Given the description of an element on the screen output the (x, y) to click on. 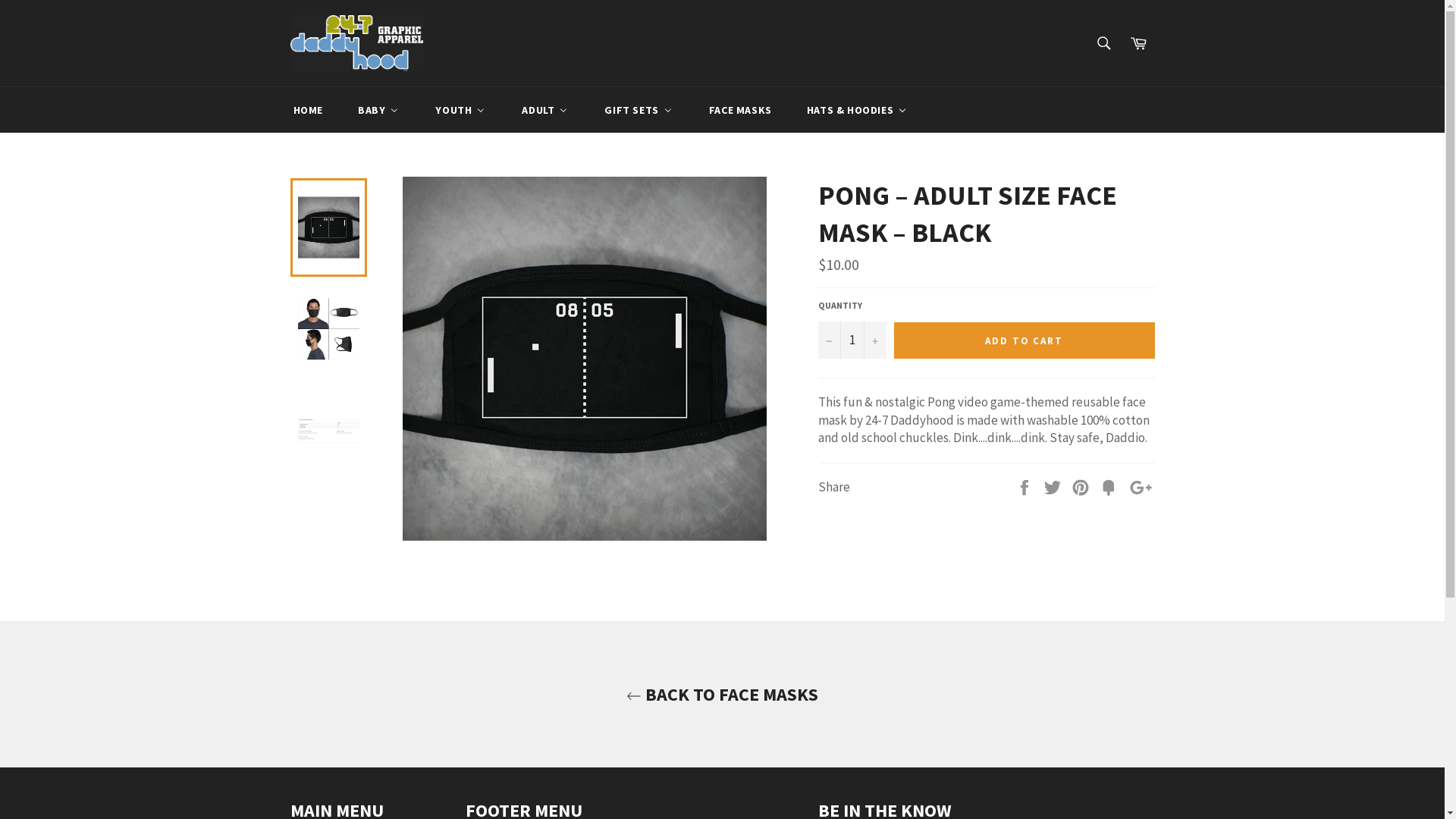
+ Element type: text (873, 339)
ADULT Element type: text (544, 109)
HOME Element type: text (306, 109)
+1 on Google Plus Element type: text (1140, 486)
YOUTH Element type: text (460, 109)
Add to Fancy Element type: text (1109, 486)
Search Element type: text (1104, 43)
Share on Facebook Element type: text (1025, 486)
Tweet on Twitter Element type: text (1053, 486)
GIFT SETS Element type: text (638, 109)
FACE MASKS Element type: text (739, 109)
BACK TO FACE MASKS Element type: text (722, 693)
Pin on Pinterest Element type: text (1081, 486)
BABY Element type: text (378, 109)
HATS & HOODIES Element type: text (856, 109)
Cart Element type: text (1138, 43)
ADD TO CART Element type: text (1023, 340)
